Given the description of an element on the screen output the (x, y) to click on. 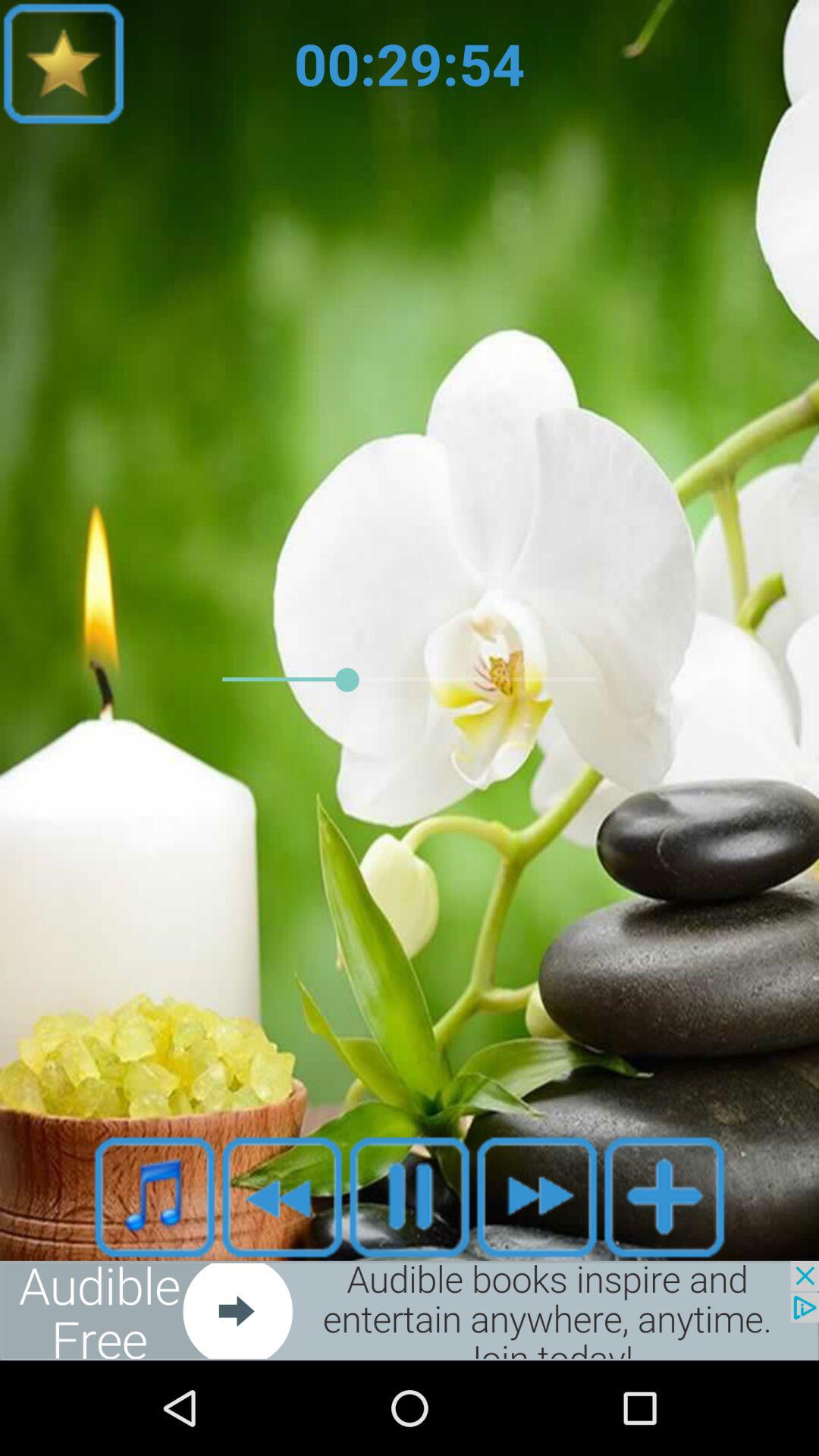
music button (154, 1196)
